Given the description of an element on the screen output the (x, y) to click on. 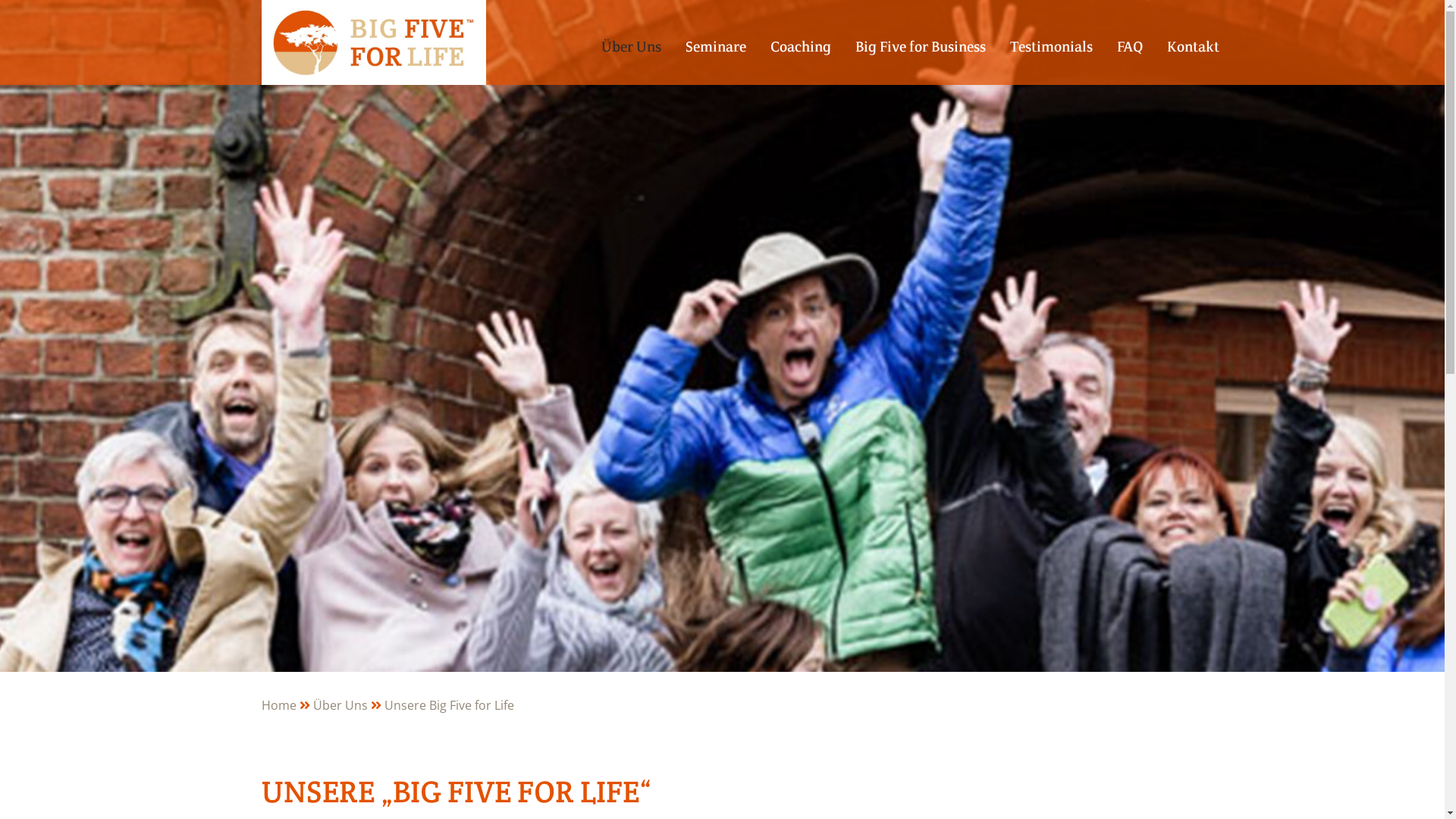
Testimonials Element type: text (1050, 58)
Coaching Element type: text (800, 58)
FAQ Element type: text (1129, 58)
Home Element type: text (286, 704)
Big Five for Business Element type: text (920, 58)
Kontakt Element type: text (1192, 58)
Seminare Element type: text (715, 58)
Home Element type: hover (373, 42)
